Given the description of an element on the screen output the (x, y) to click on. 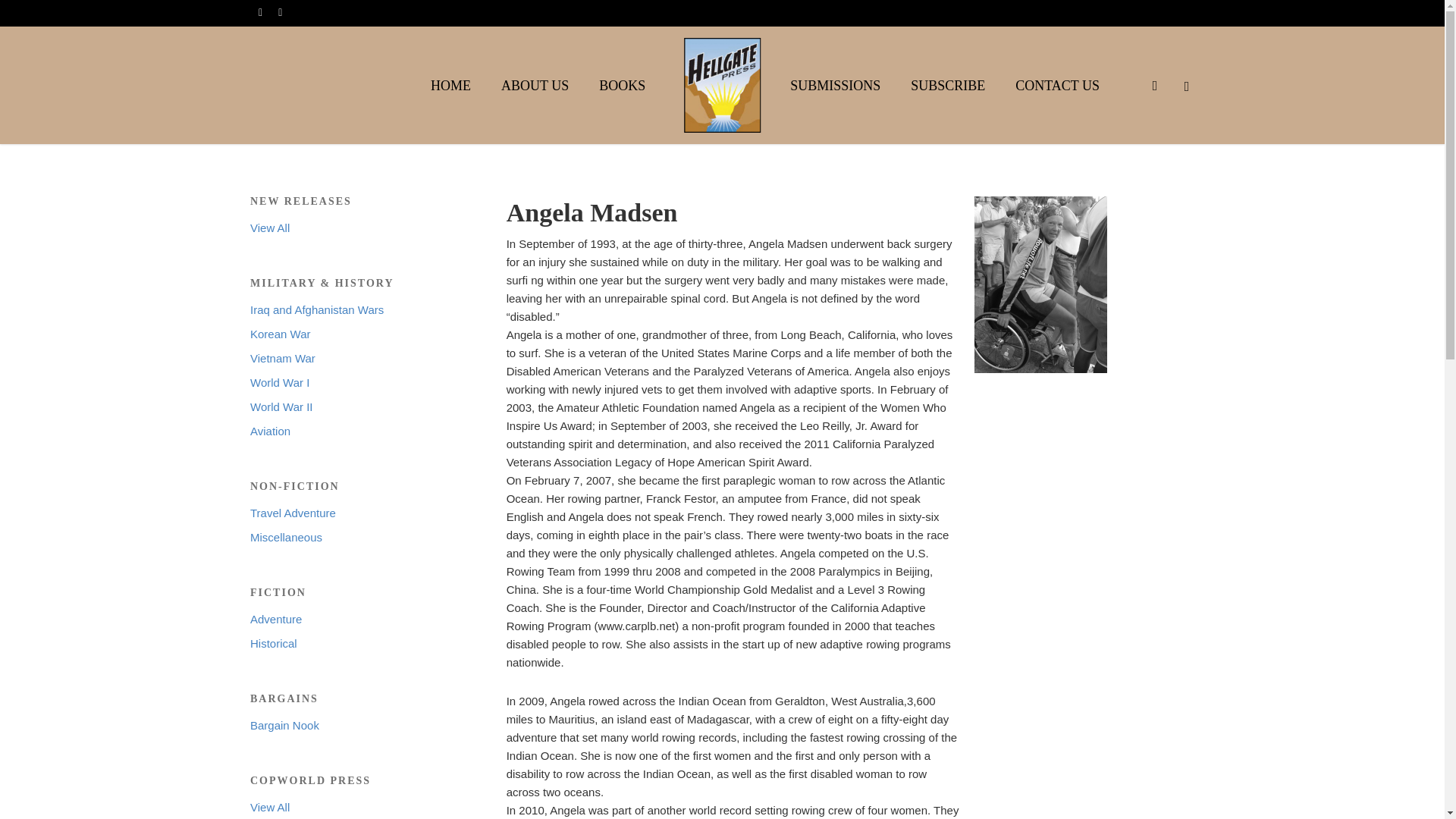
CONTACT US (1056, 85)
SUBMISSIONS (835, 85)
search (1154, 84)
HOME (450, 85)
SUBSCRIBE (948, 85)
ABOUT US (534, 85)
BOOKS (621, 85)
